Given the description of an element on the screen output the (x, y) to click on. 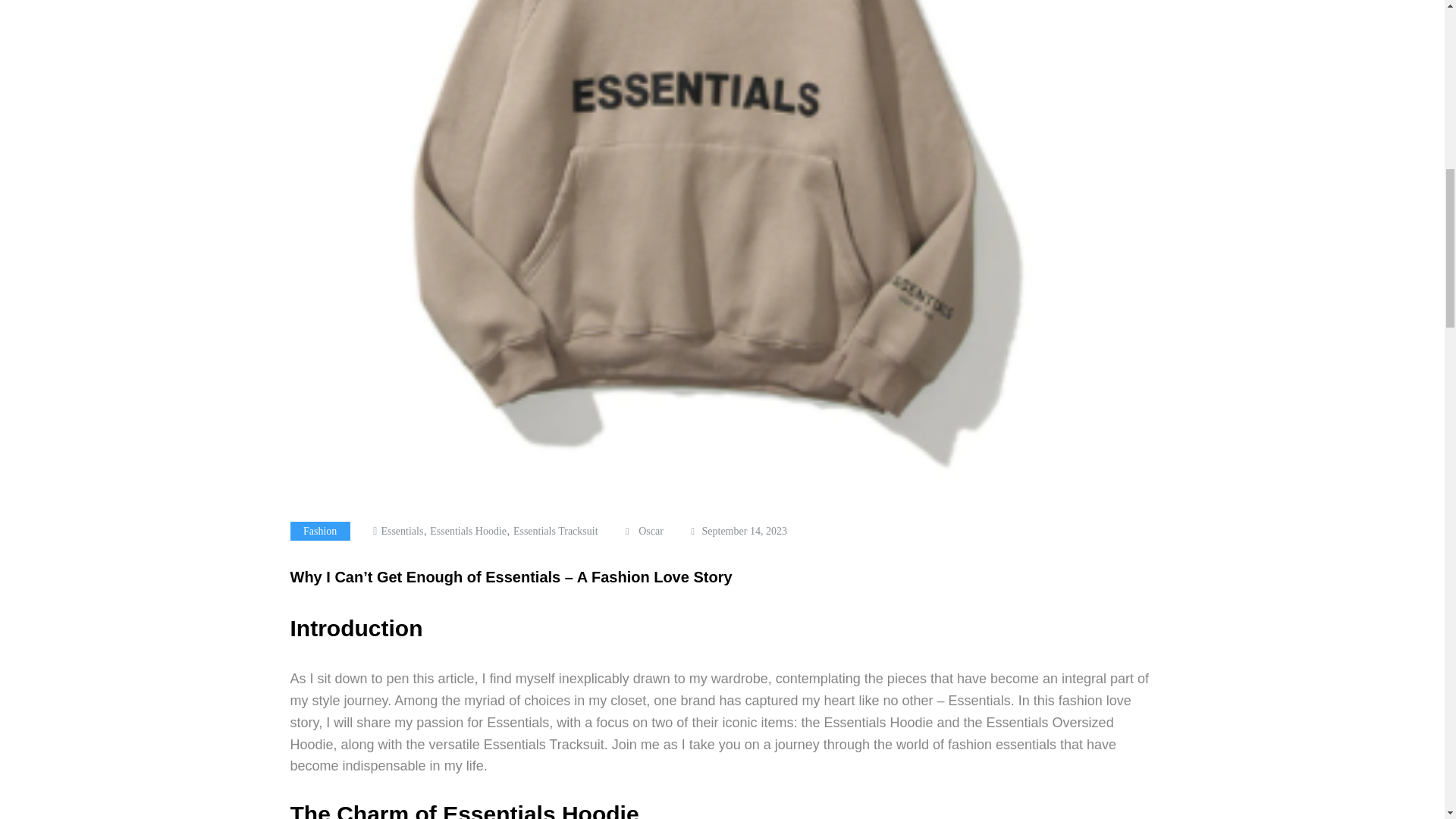
Essentials Tracksuit (555, 531)
Fashion (319, 530)
Essentials Hoodie (467, 531)
Essentials (401, 531)
